Given the description of an element on the screen output the (x, y) to click on. 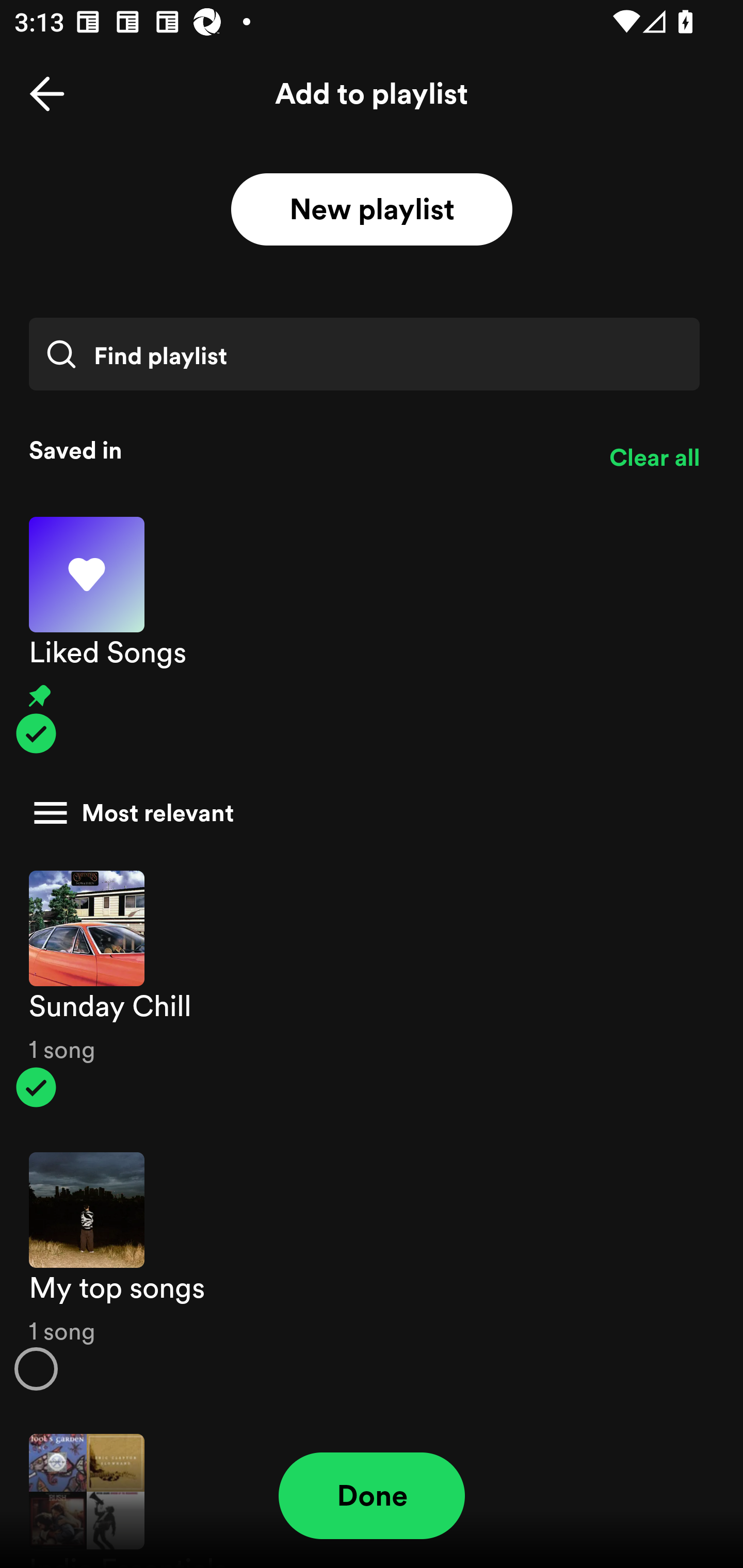
Back (46, 93)
New playlist (371, 210)
Find playlist (363, 354)
Saved in (304, 449)
Clear all (654, 457)
Liked Songs Pinned (371, 635)
Most relevant (363, 812)
Sunday Chill 1 song (371, 989)
My top songs 1 song (371, 1271)
Indie Essentials (371, 1490)
Done (371, 1495)
